Given the description of an element on the screen output the (x, y) to click on. 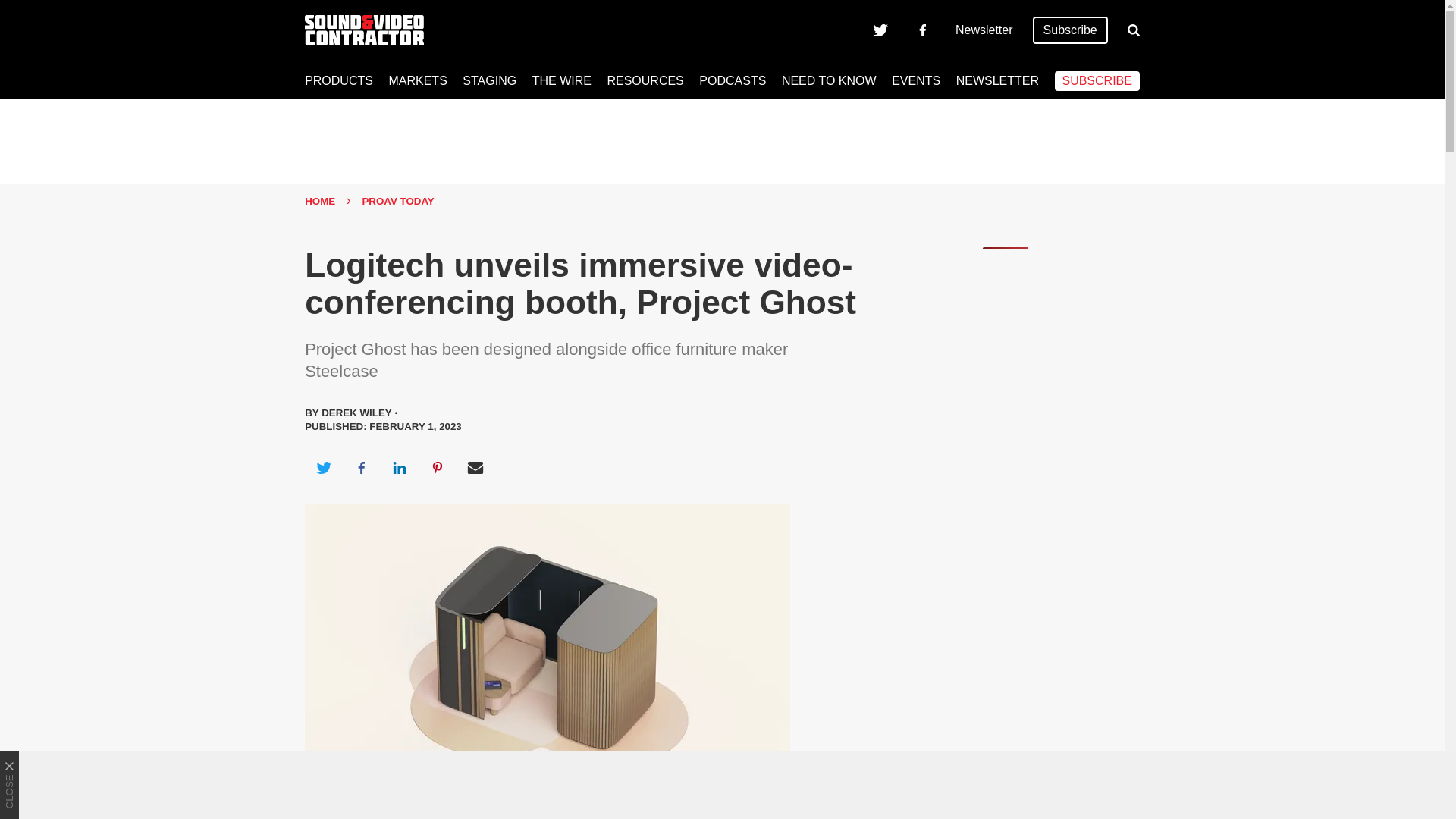
Share on Facebook (361, 467)
Share on Pinterest (438, 467)
Share via Email (476, 467)
Share on LinkedIn (399, 467)
Share on Twitter (323, 467)
